Given the description of an element on the screen output the (x, y) to click on. 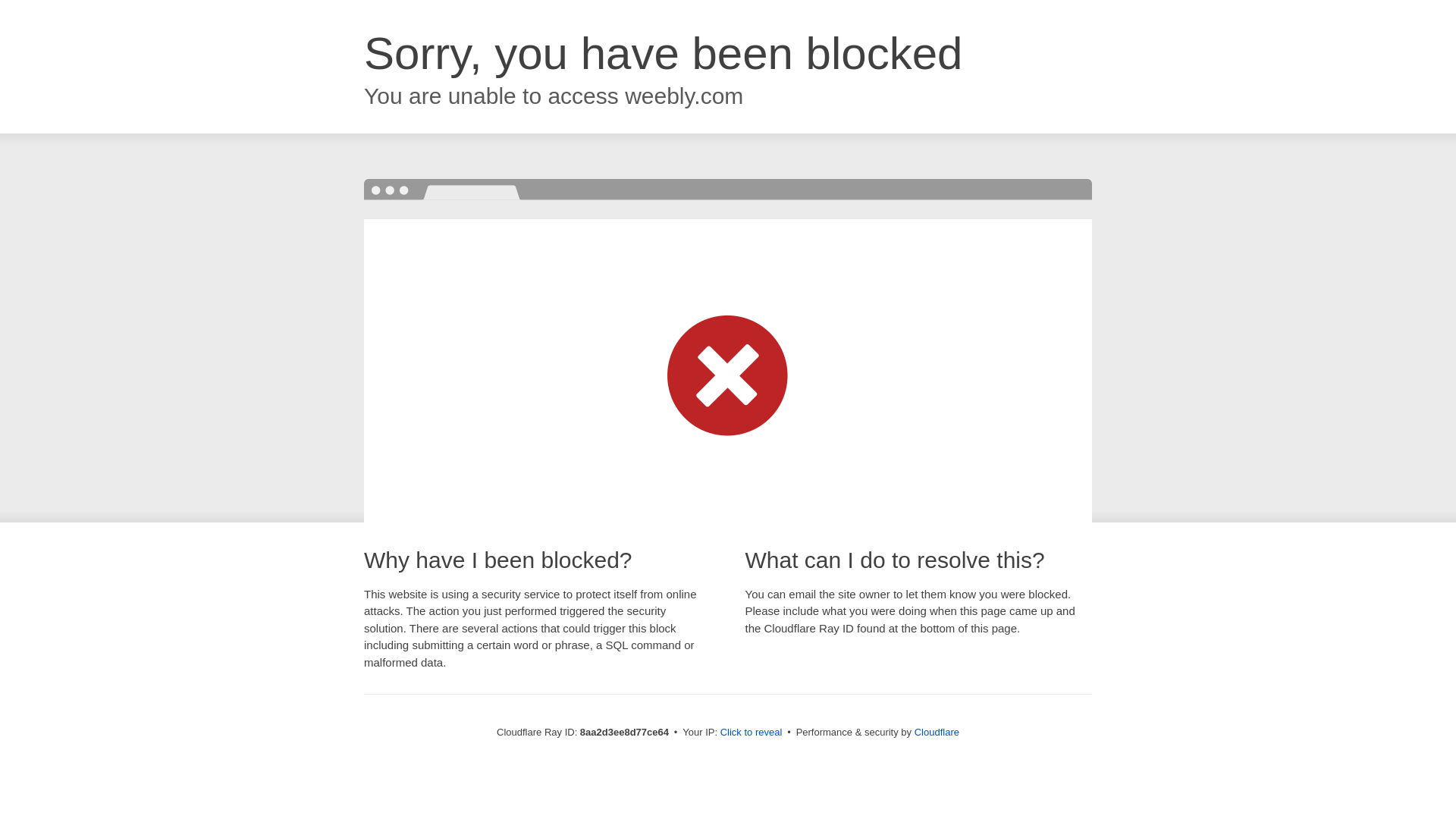
Cloudflare (936, 731)
Click to reveal (751, 732)
